Given the description of an element on the screen output the (x, y) to click on. 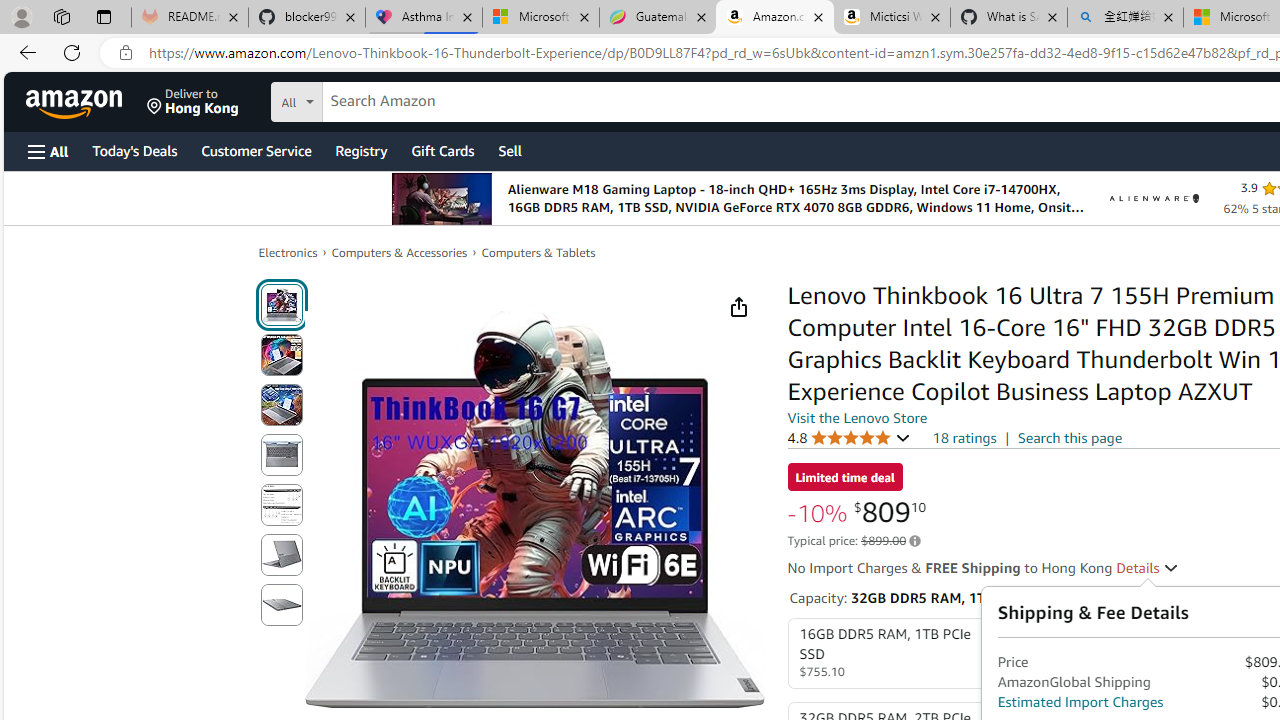
Open Menu (48, 151)
Search in (371, 99)
Deliver to Hong Kong (193, 101)
Registry (360, 150)
Logo (1153, 198)
